Given the description of an element on the screen output the (x, y) to click on. 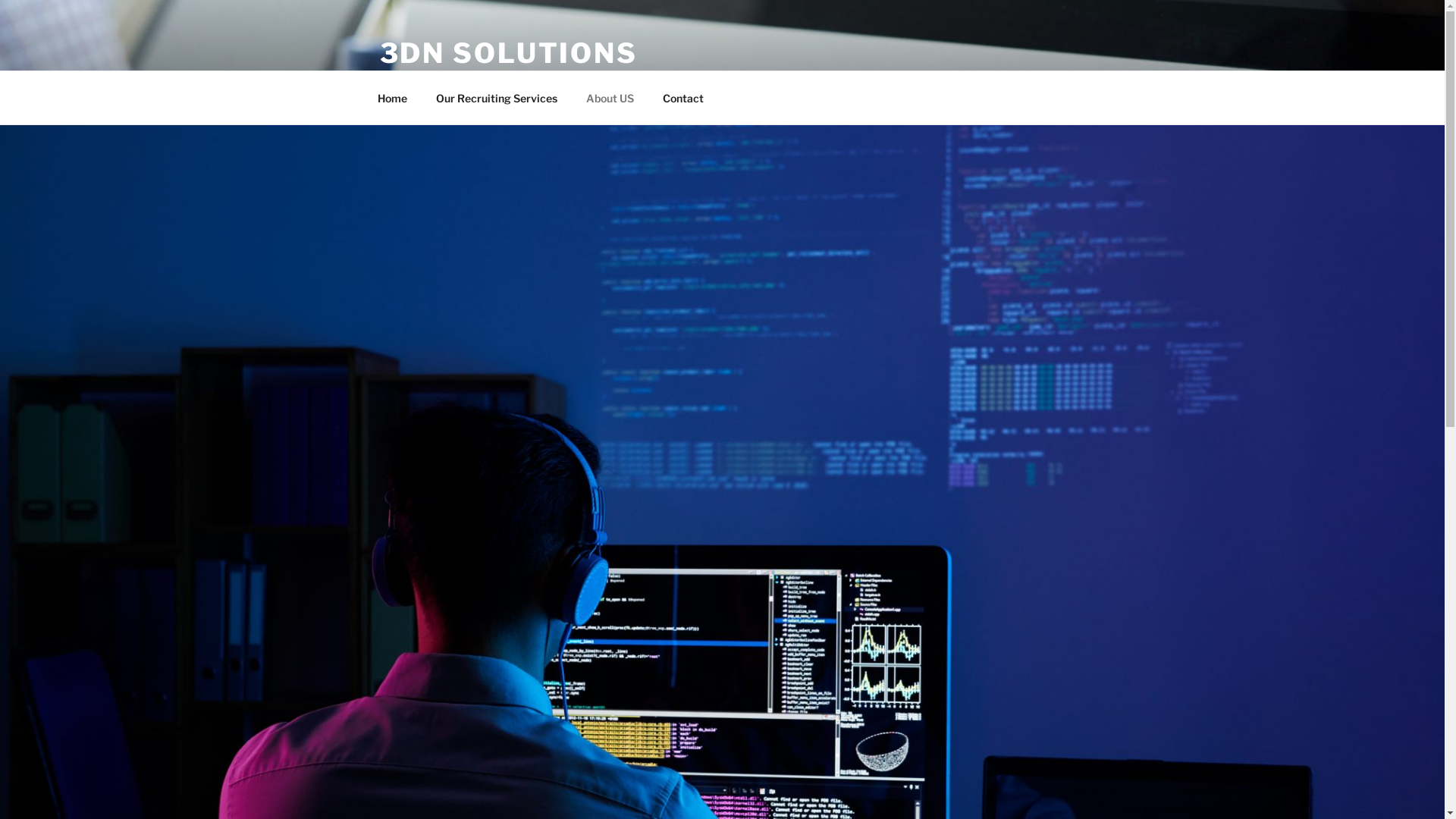
About US Element type: text (610, 97)
3DN SOLUTIONS Element type: text (508, 52)
Skip to content Element type: text (0, 0)
Our Recruiting Services Element type: text (497, 97)
Contact Element type: text (682, 97)
Home Element type: text (392, 97)
